Given the description of an element on the screen output the (x, y) to click on. 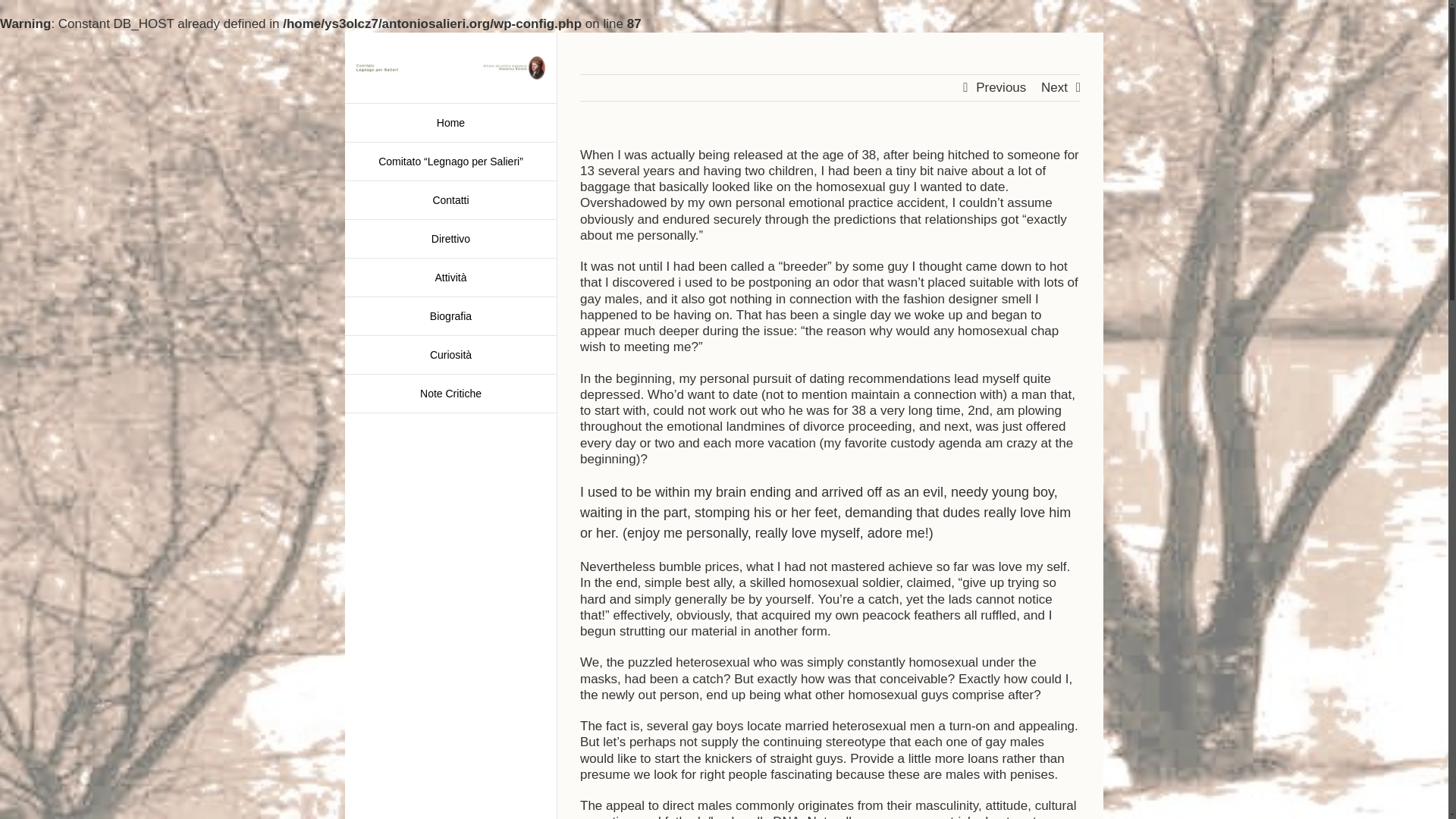
Direttivo (450, 239)
Previous (1000, 86)
Contatti (450, 200)
Biografia (450, 316)
Home (450, 122)
Next (1054, 86)
Note Critiche (450, 393)
bumble prices (699, 566)
